Given the description of an element on the screen output the (x, y) to click on. 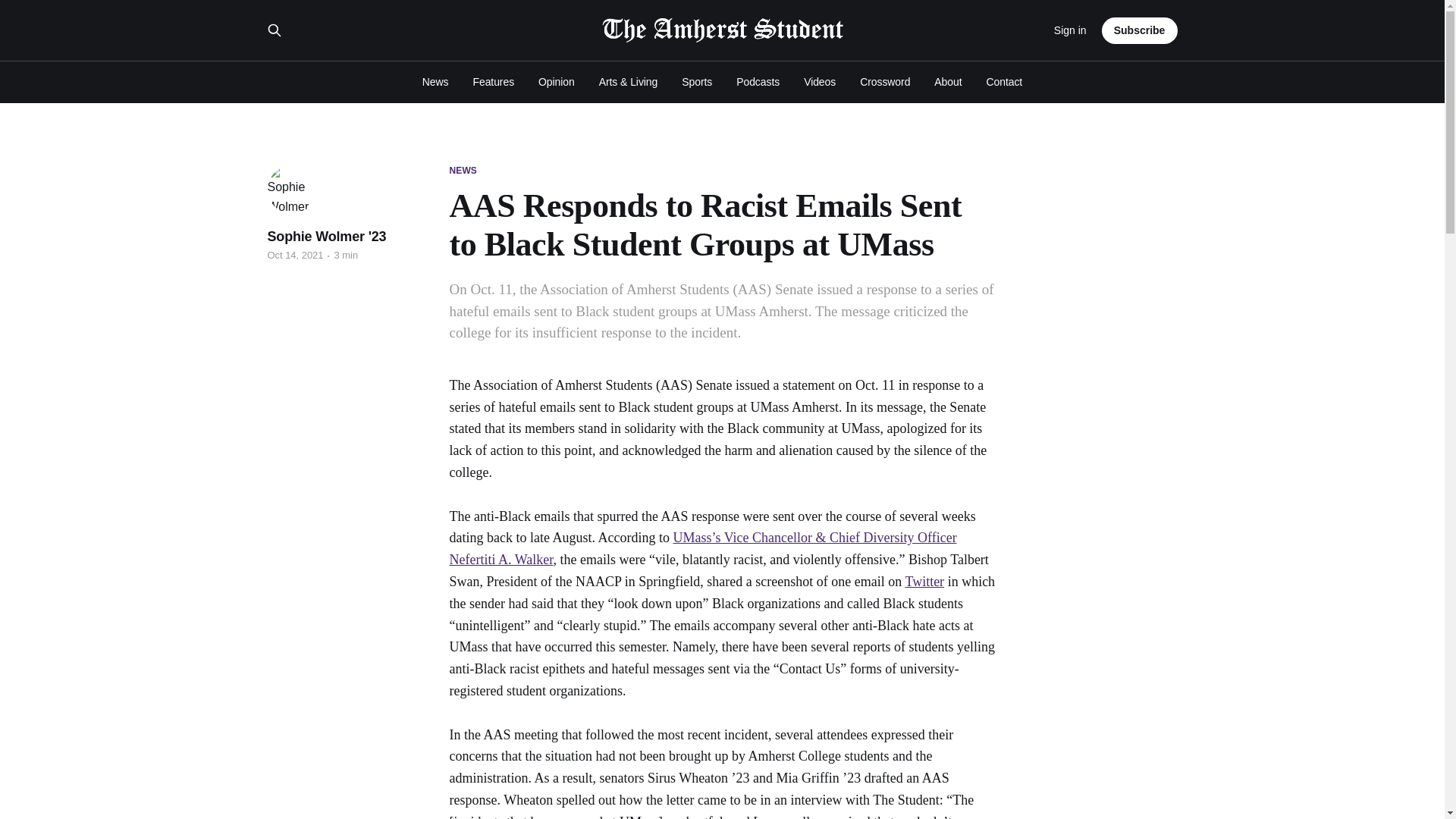
Contact (1005, 81)
News (435, 81)
Crossword (885, 81)
Sports (696, 81)
Sign in (1070, 30)
Sophie Wolmer '23 (325, 236)
Videos (819, 81)
Subscribe (1139, 29)
Features (492, 81)
Podcasts (757, 81)
